Given the description of an element on the screen output the (x, y) to click on. 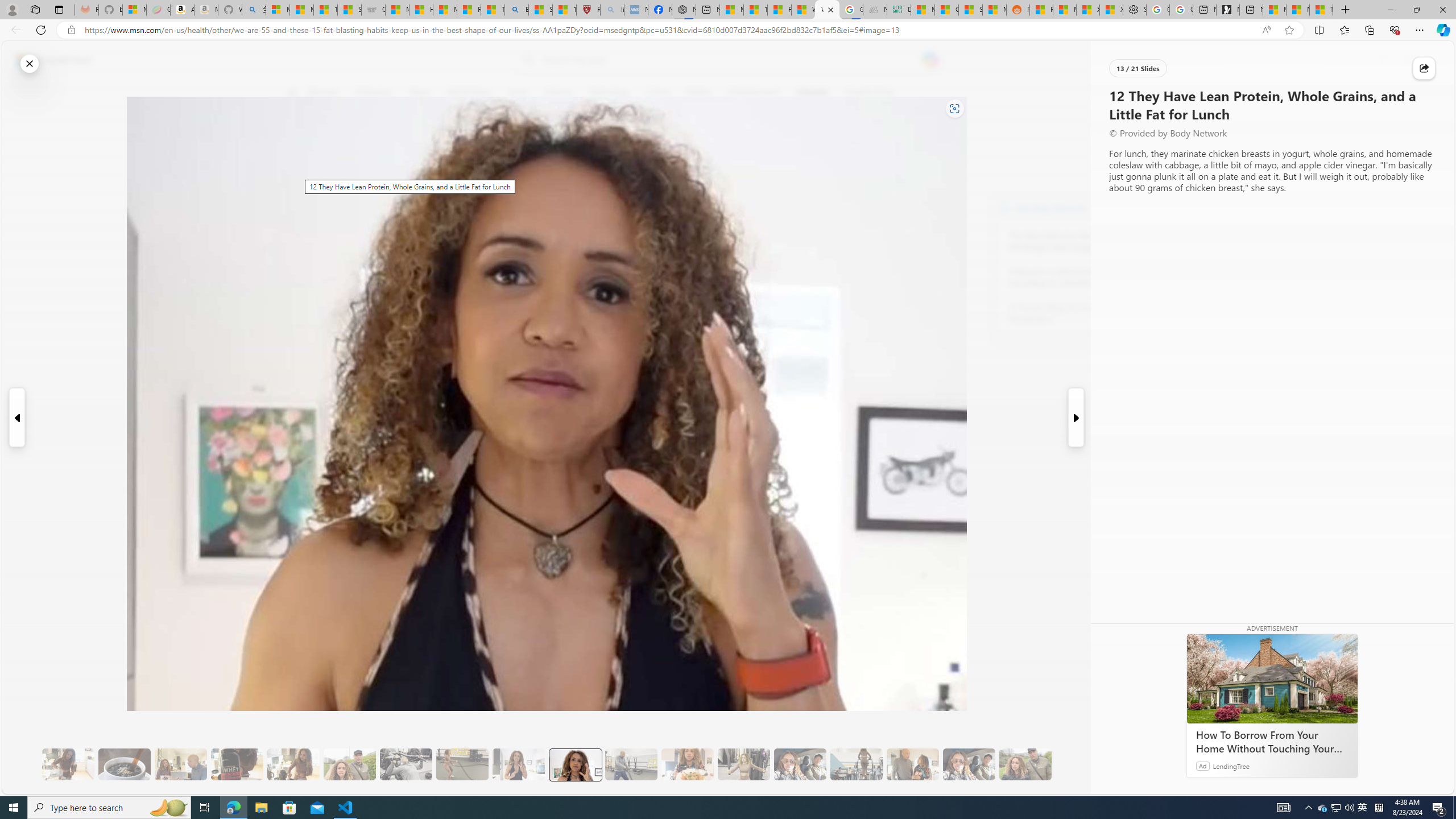
8 They Walk to the Gym (349, 764)
Local (517, 92)
8 They Walk to the Gym (349, 764)
How I Got Rid of Microsoft Edge's Unnecessary Features (421, 9)
10 Then, They Do HIIT Cardio (462, 764)
Local (517, 92)
